Given the description of an element on the screen output the (x, y) to click on. 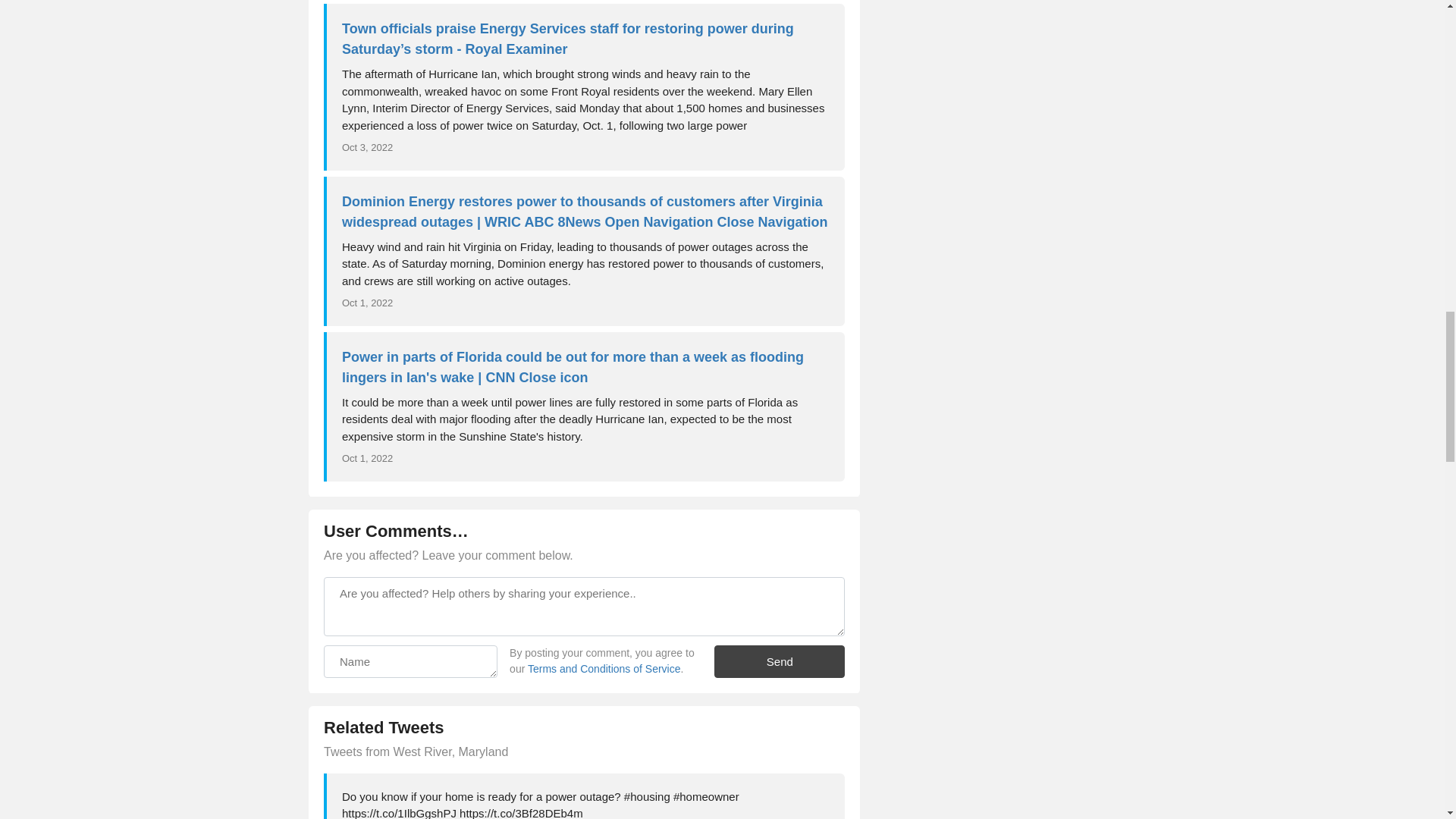
Send (779, 661)
Terms and Conditions of Service (604, 668)
Send (779, 661)
